Given the description of an element on the screen output the (x, y) to click on. 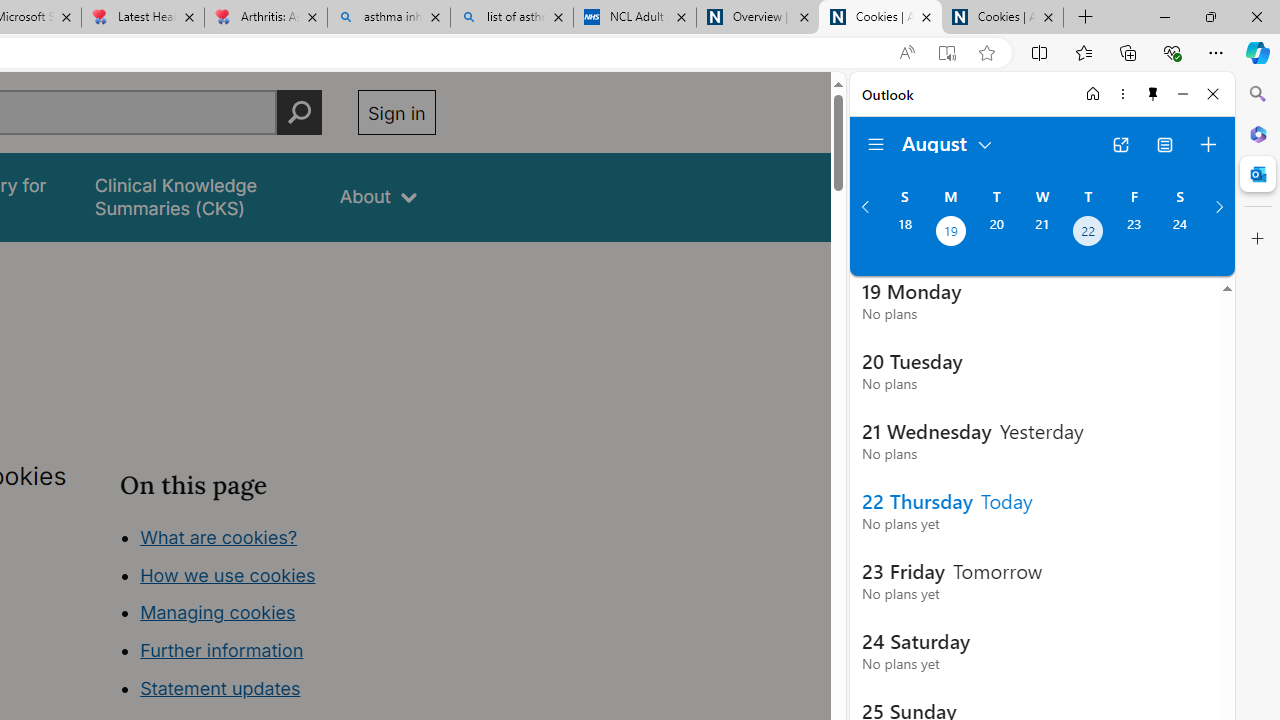
Saturday, August 24, 2024.  (1180, 233)
asthma inhaler - Search (388, 17)
Further information (221, 650)
Folder navigation (876, 144)
Create event (1208, 144)
Managing cookies (217, 612)
Class: in-page-nav__list (277, 615)
